Given the description of an element on the screen output the (x, y) to click on. 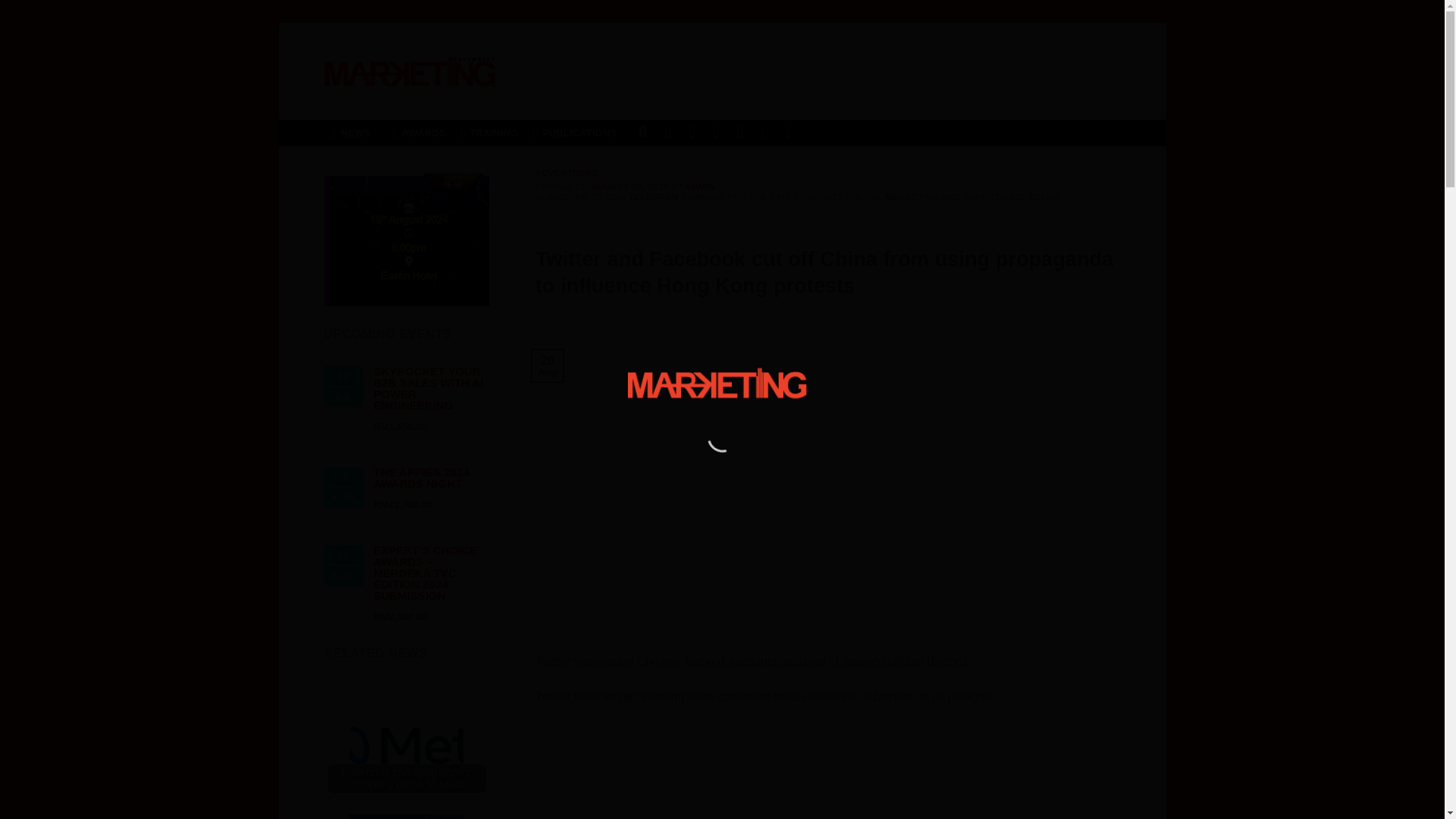
TRAINING (488, 133)
PUBLICATIONS (577, 133)
NEWS (354, 133)
AWARDS (418, 133)
SKYROCKET YOUR B2B SALES WITH AI POWER ENGINEERING (427, 387)
SKYROCKET YOUR B2B SALES WITH AI POWER ENGINEERING (427, 387)
Facebook changing parent company name to Meta (406, 745)
Facebook changing parent company name to Meta (405, 740)
THE APPIES 2024 AWARDS NIGHT (420, 477)
The APPIES 2024 Awards Night (420, 477)
